Given the description of an element on the screen output the (x, y) to click on. 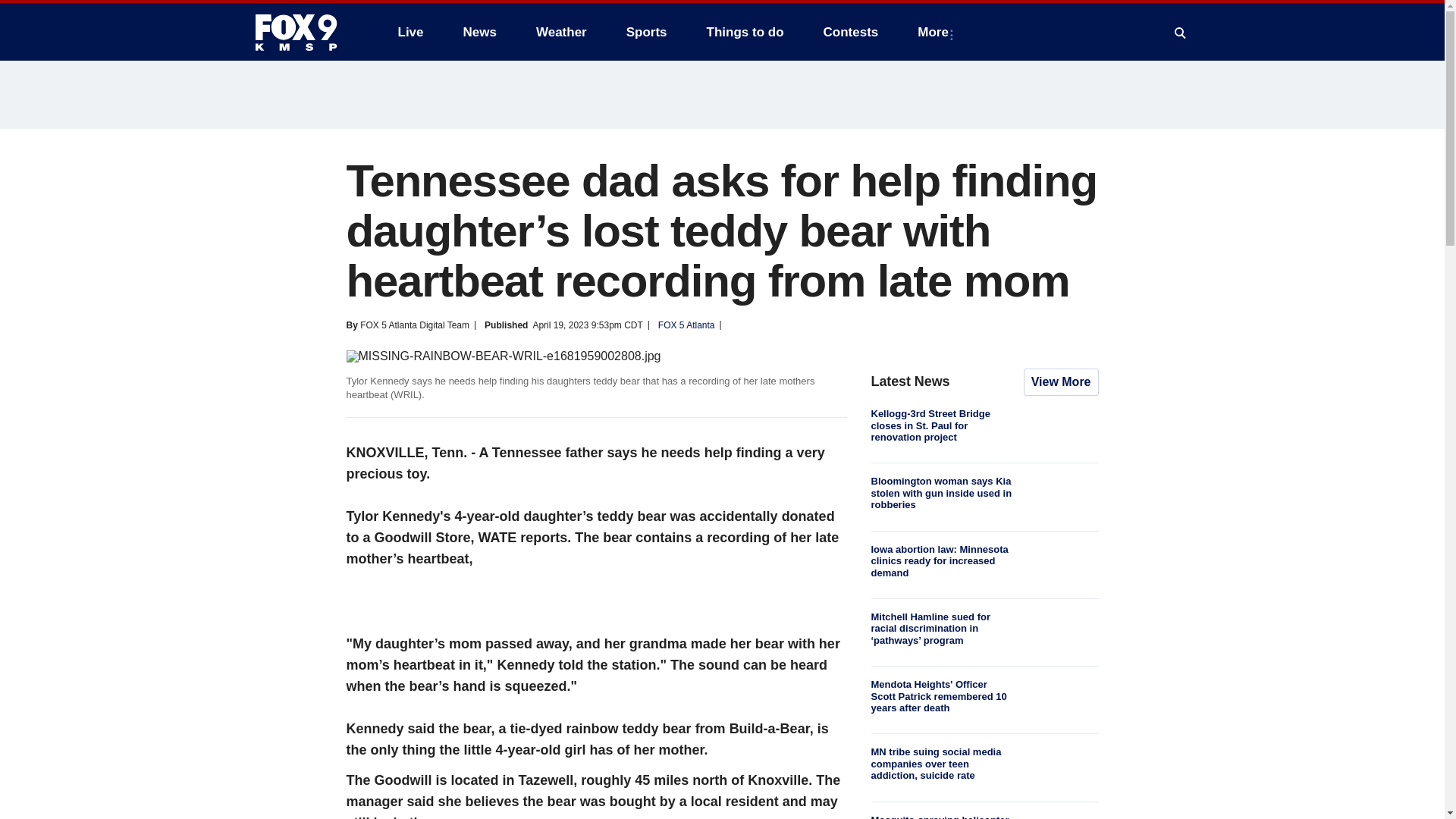
Things to do (745, 32)
News (479, 32)
Sports (646, 32)
More (935, 32)
Live (410, 32)
Weather (561, 32)
Contests (850, 32)
